Given the description of an element on the screen output the (x, y) to click on. 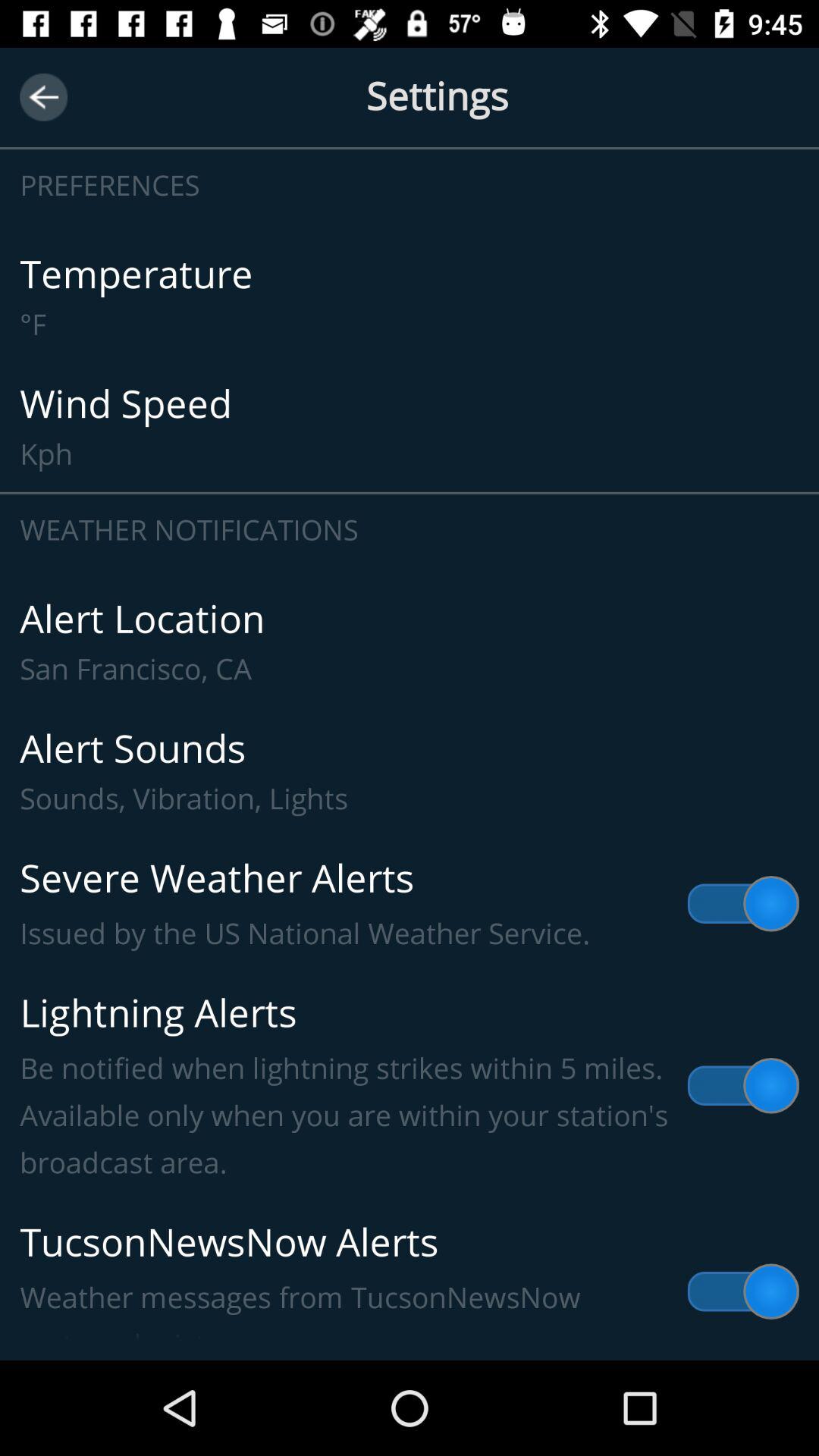
select the text which says settings (409, 114)
